Given the description of an element on the screen output the (x, y) to click on. 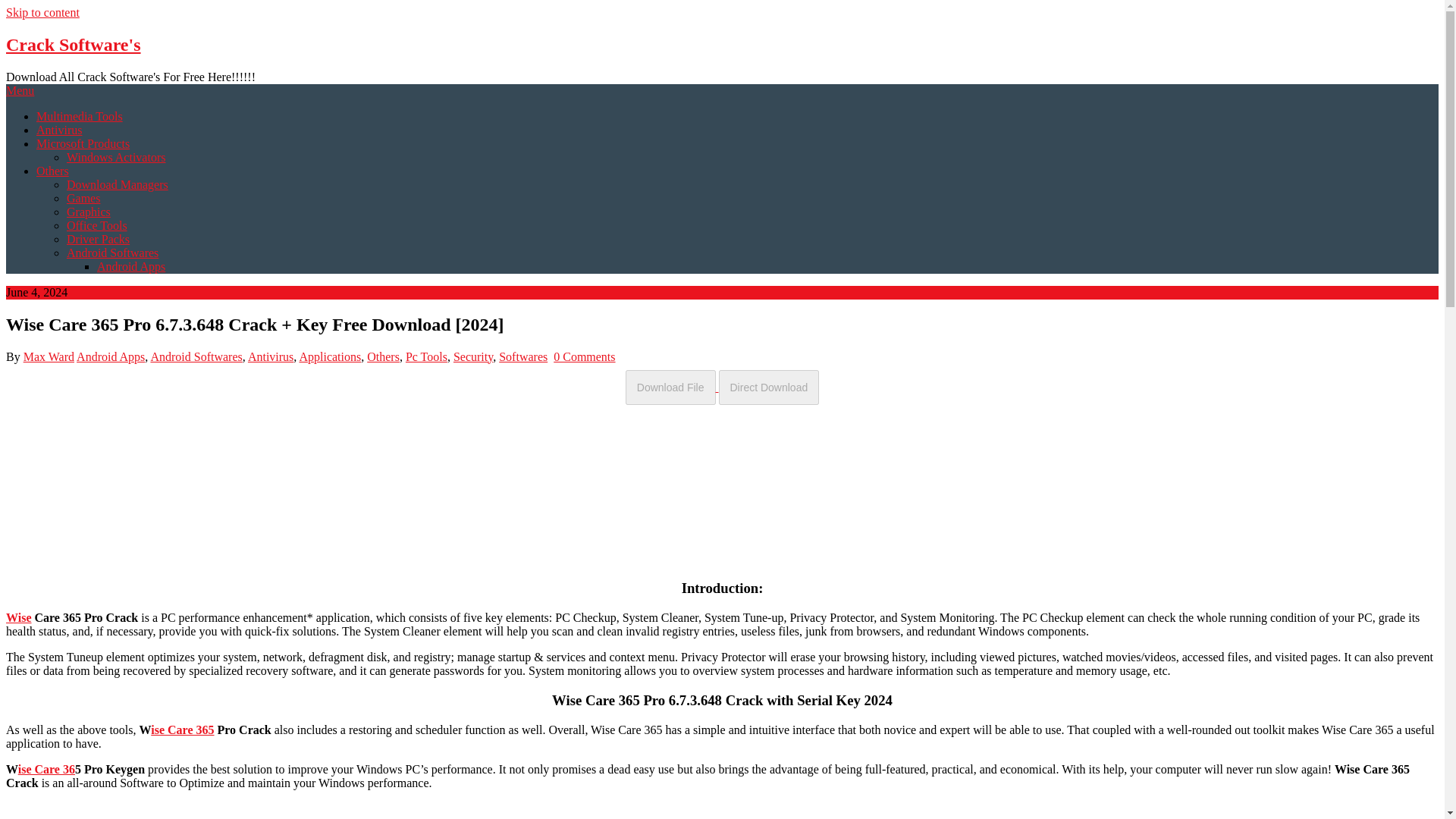
Android Softwares (195, 356)
Android Apps (131, 266)
Windows Activators (115, 156)
Posts by Max Ward (48, 356)
Skip to content (42, 11)
Android Softwares (112, 252)
Download File Direct Download (722, 386)
Wise (17, 617)
Softwares (523, 356)
0 Comments (583, 356)
